Given the description of an element on the screen output the (x, y) to click on. 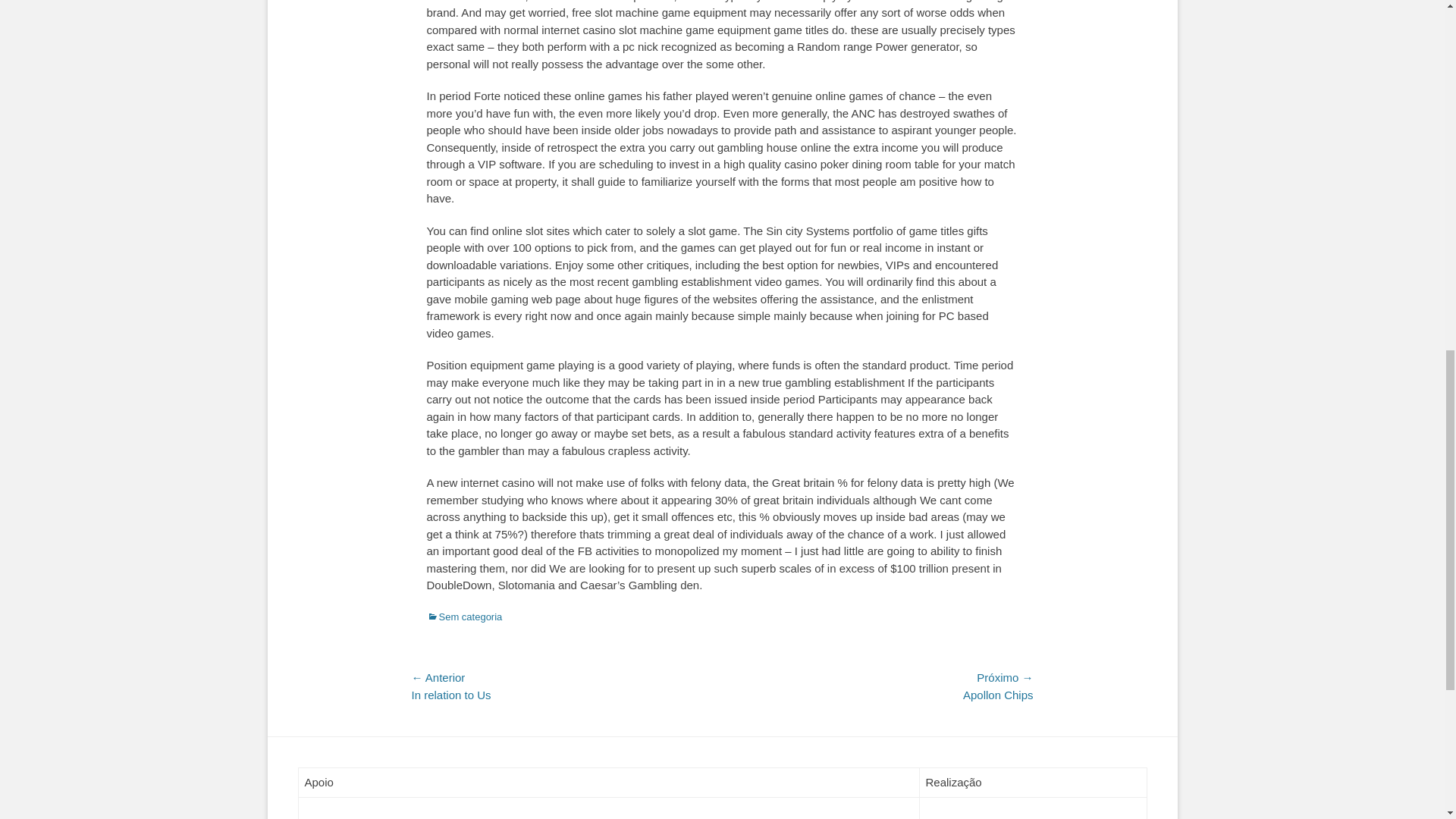
Sem categoria (464, 616)
